Given the description of an element on the screen output the (x, y) to click on. 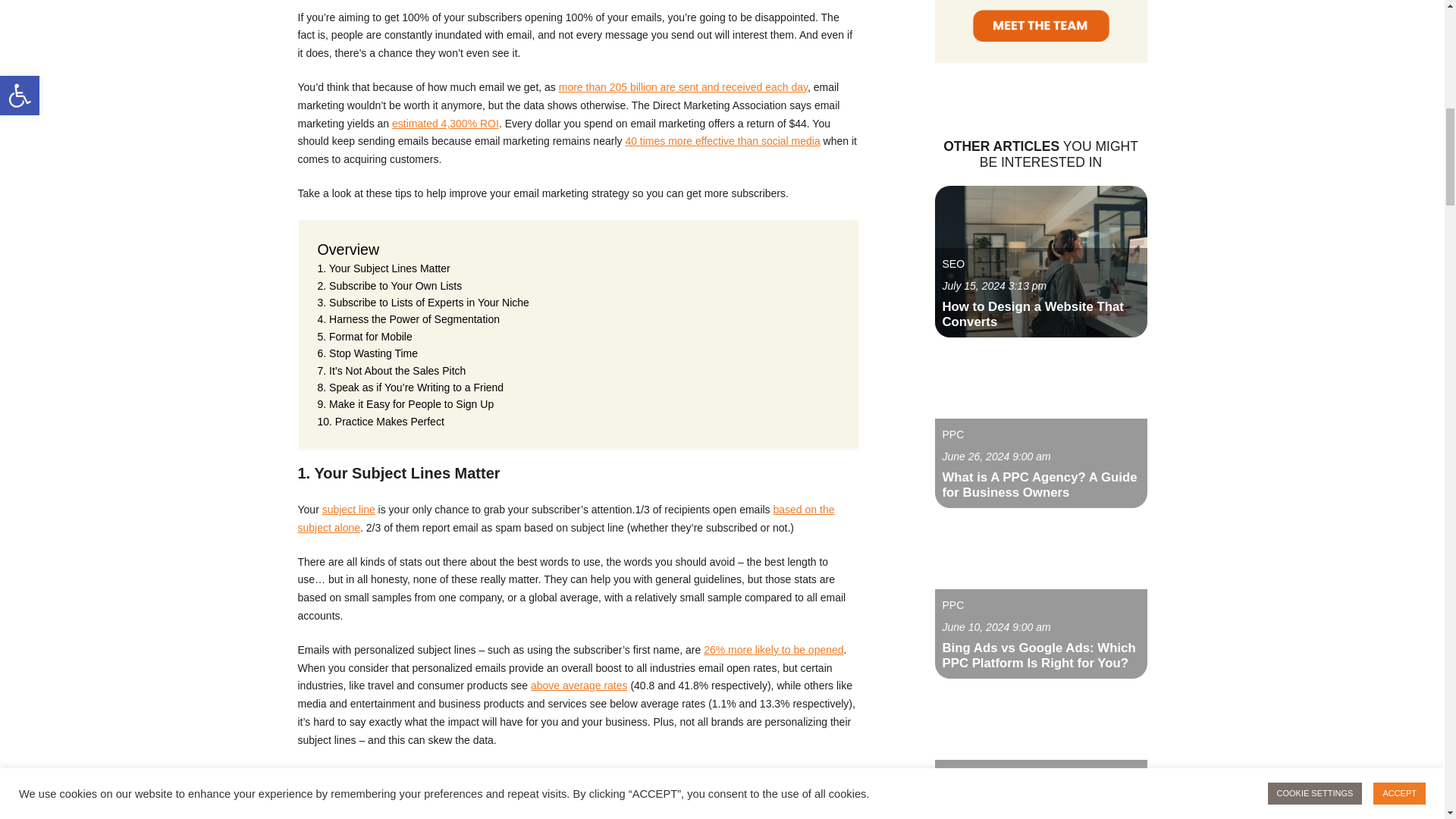
9. Make it Easy for People to Sign Up (405, 403)
5. Format for Mobile (364, 336)
2. Subscribe to Your Own Lists (389, 285)
10. Practice Makes Perfect (380, 421)
3. Subscribe to Lists of Experts in Your Niche (422, 302)
4. Harness the Power of Segmentation (408, 319)
1. Your Subject Lines Matter (383, 268)
6. Stop Wasting Time (367, 352)
